Given the description of an element on the screen output the (x, y) to click on. 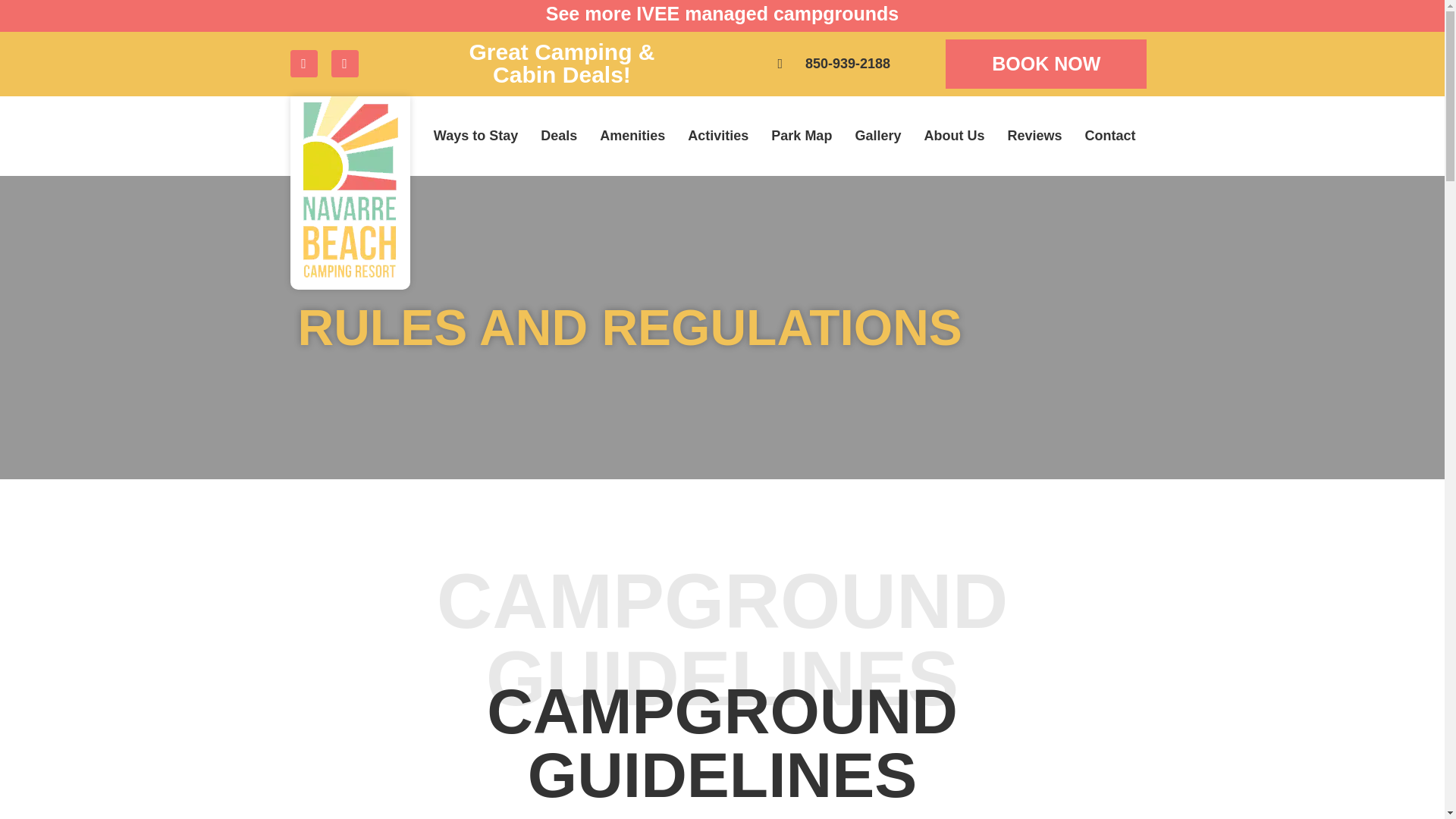
Deals (558, 135)
See more IVEE managed campgrounds (722, 13)
Contact (1110, 135)
Ways to Stay (475, 135)
Gallery (877, 135)
BOOK NOW (1045, 63)
Amenities (632, 135)
About Us (953, 135)
Park Map (801, 135)
Reviews (1034, 135)
850-939-2188 (831, 64)
Activities (718, 135)
